Given the description of an element on the screen output the (x, y) to click on. 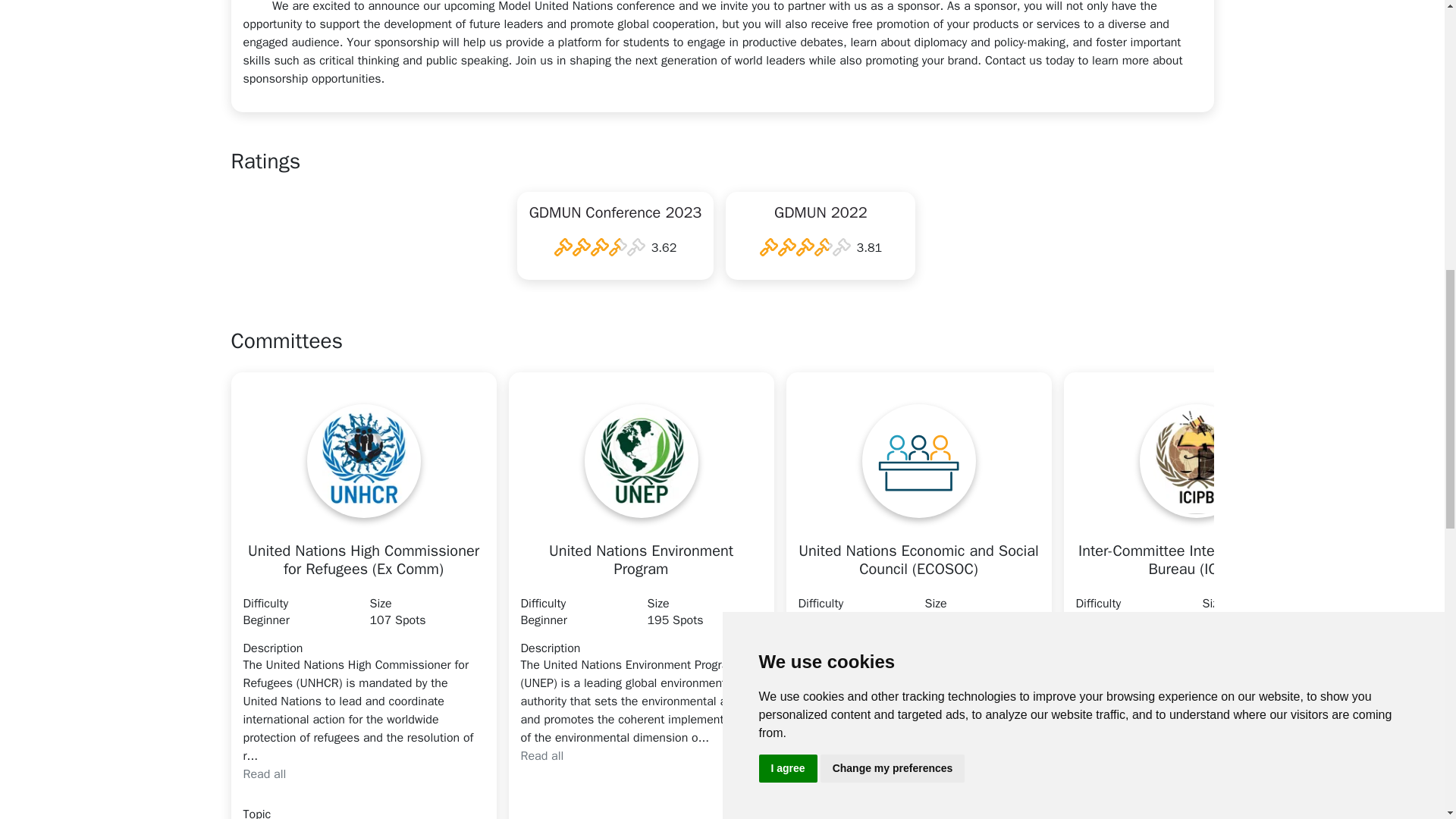
GDMUN Conference 2023 (615, 215)
GDMUN 2022 (820, 215)
